Given the description of an element on the screen output the (x, y) to click on. 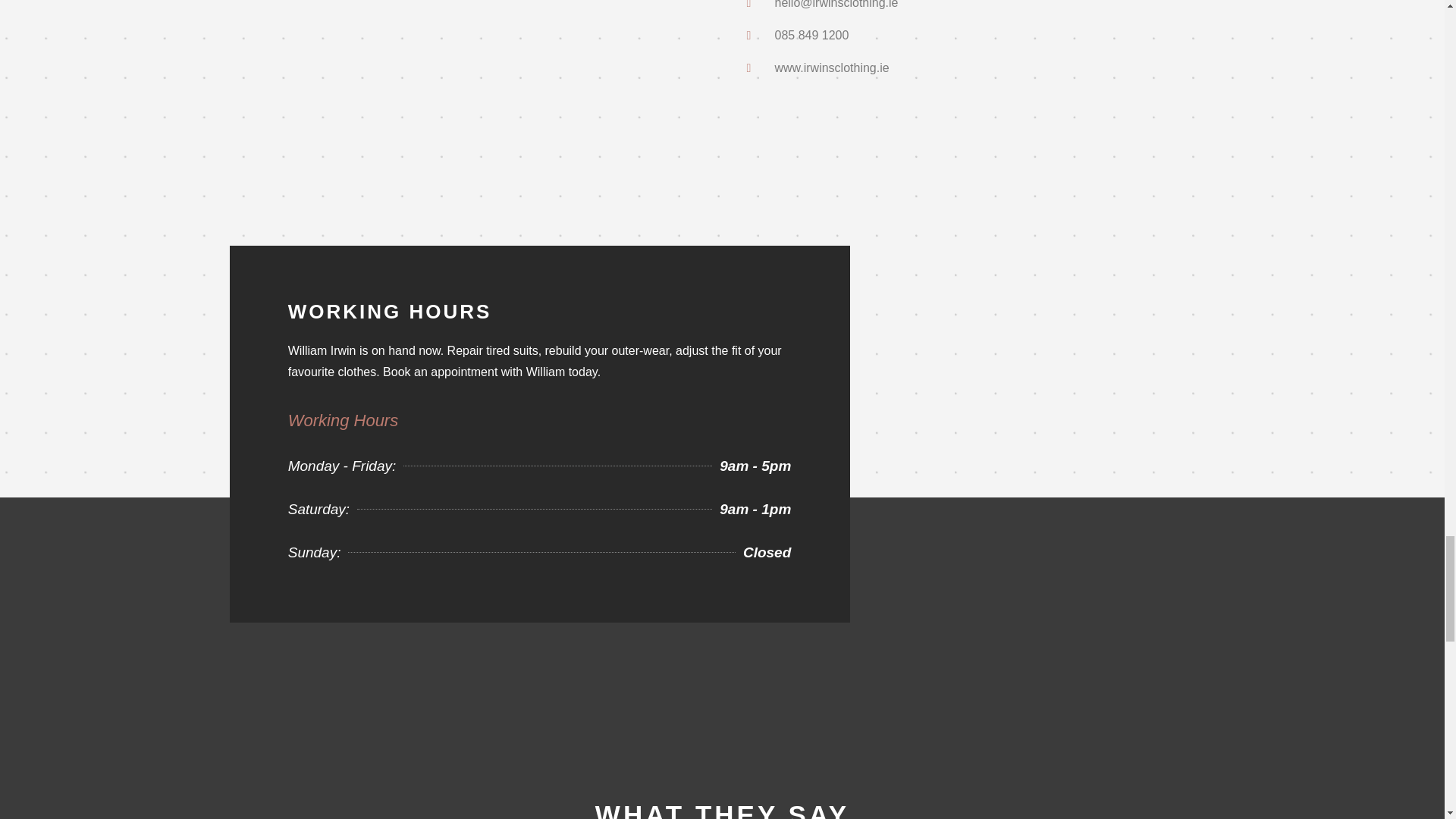
085 849 1200 (540, 512)
www.irwinsclothing.ie (979, 35)
